Given the description of an element on the screen output the (x, y) to click on. 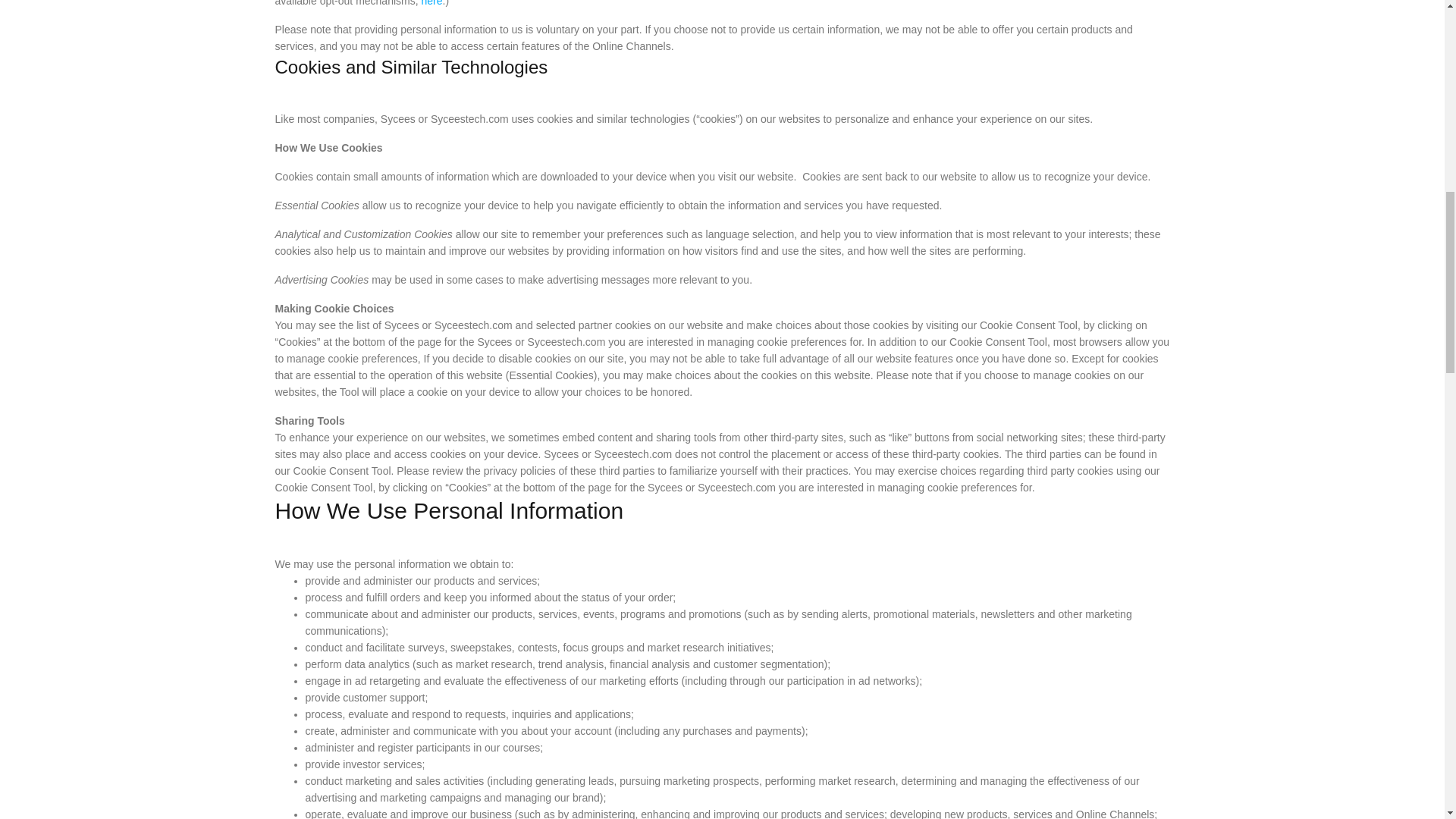
Opens in a new browser tab. (432, 3)
here (432, 3)
